Given the description of an element on the screen output the (x, y) to click on. 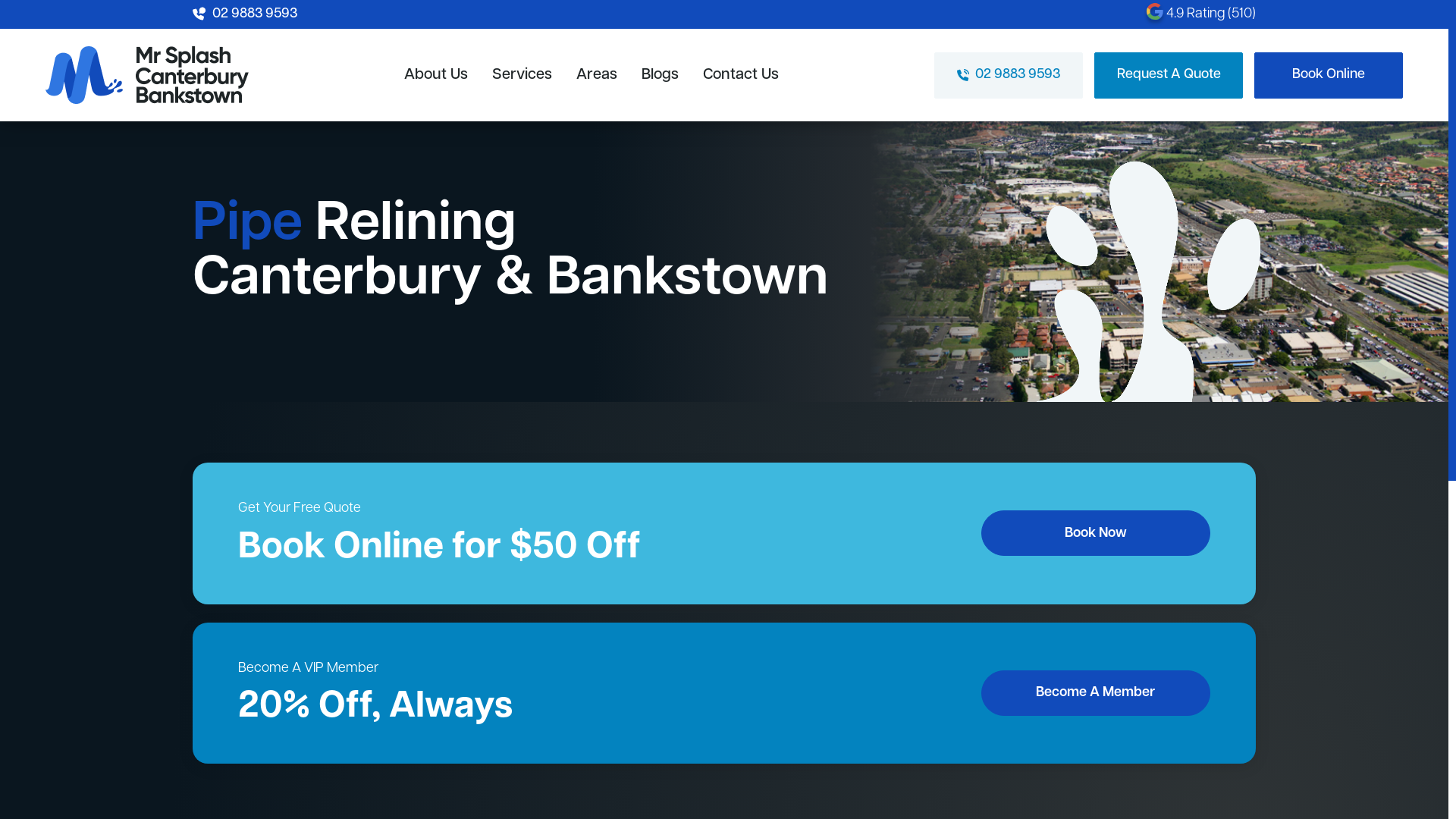
Services Element type: text (522, 74)
Book Now Element type: text (1096, 532)
Request A Quote Element type: text (1168, 74)
About Us Element type: text (435, 74)
02 9883 9593 Element type: text (1008, 74)
Book Online Element type: text (1328, 74)
Blogs Element type: text (659, 74)
Areas Element type: text (596, 74)
Contact Us Element type: text (740, 74)
02 9883 9593 Element type: text (244, 13)
Become A Member Element type: text (1096, 692)
